Given the description of an element on the screen output the (x, y) to click on. 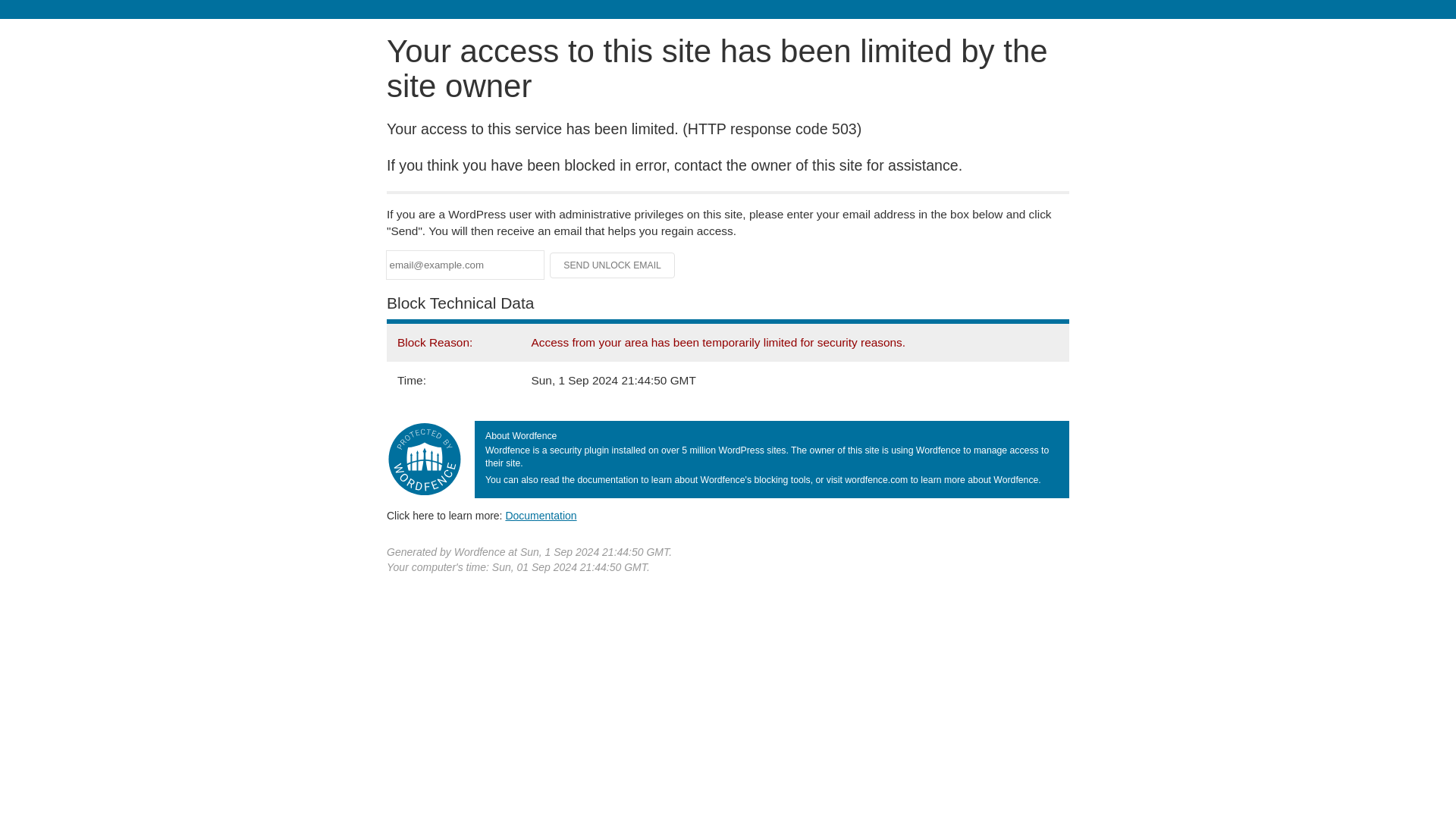
Send Unlock Email (612, 265)
Send Unlock Email (612, 265)
Documentation (540, 515)
